Given the description of an element on the screen output the (x, y) to click on. 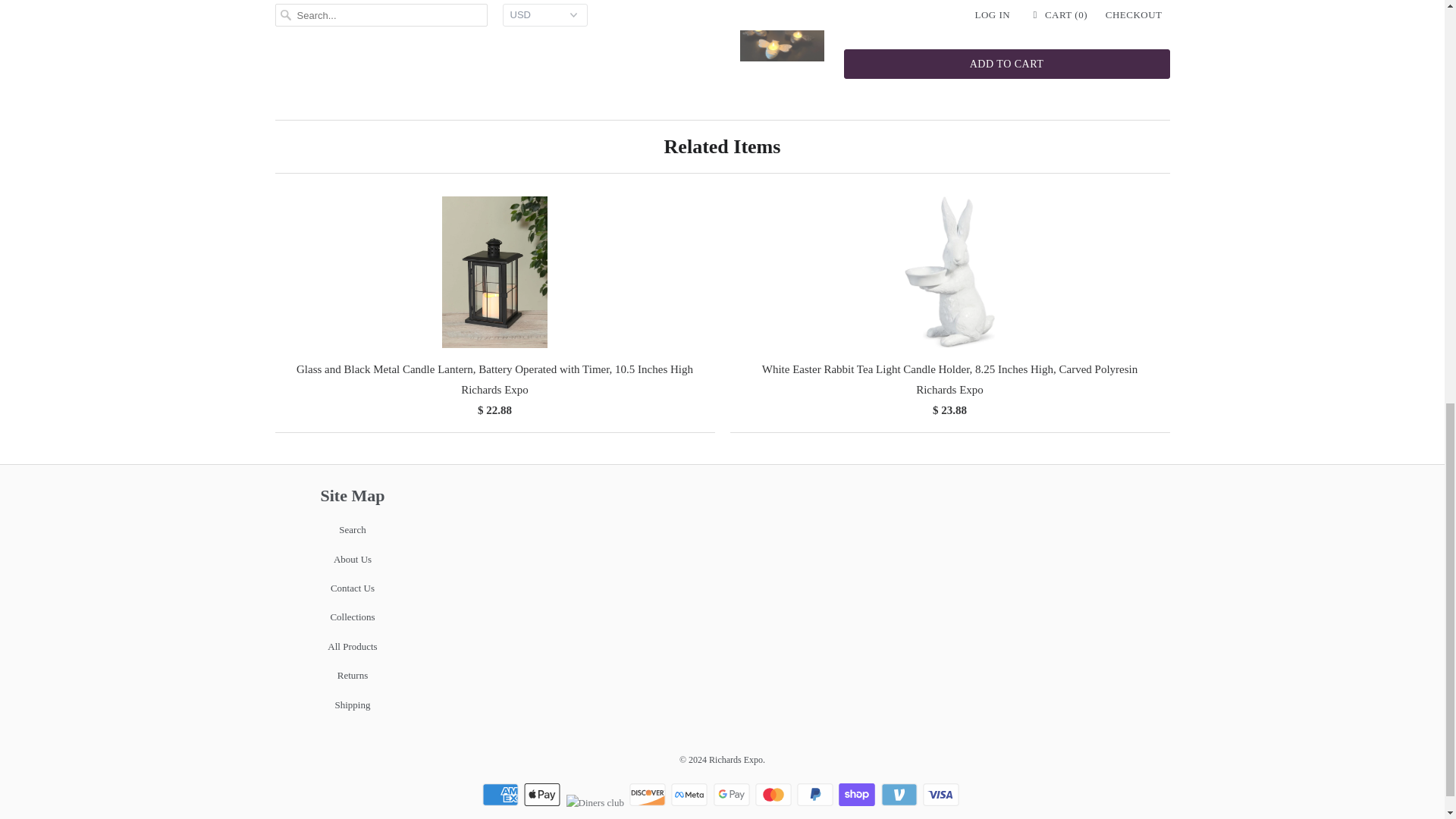
Collections (352, 616)
Contact Us (352, 587)
Search (352, 529)
About Us (352, 559)
